Given the description of an element on the screen output the (x, y) to click on. 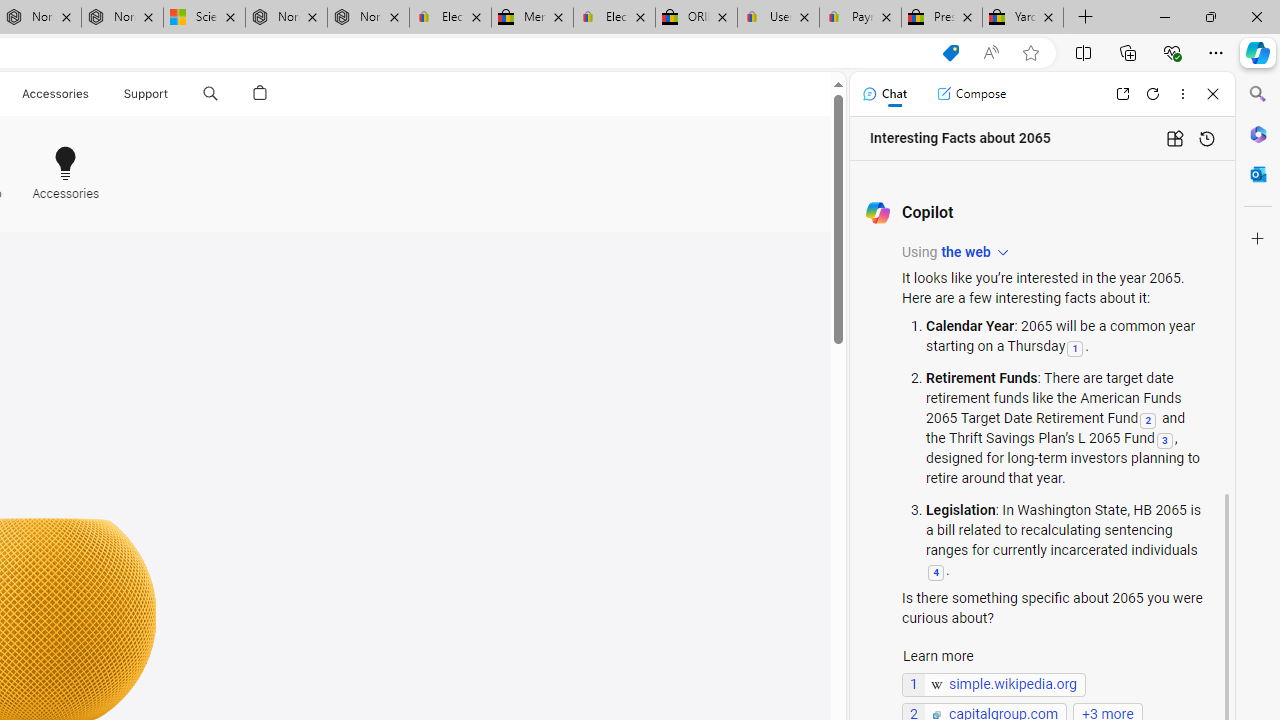
Accessories (65, 164)
Yard, Garden & Outdoor Living (1023, 17)
User Privacy Notice | eBay (778, 17)
Open link in new tab (1122, 93)
AutomationID: globalnav-bag (260, 93)
Press Room - eBay Inc. (941, 17)
Shopping Bag (260, 93)
Electronics, Cars, Fashion, Collectibles & More | eBay (614, 17)
Nordace - FAQ (368, 17)
